Given the description of an element on the screen output the (x, y) to click on. 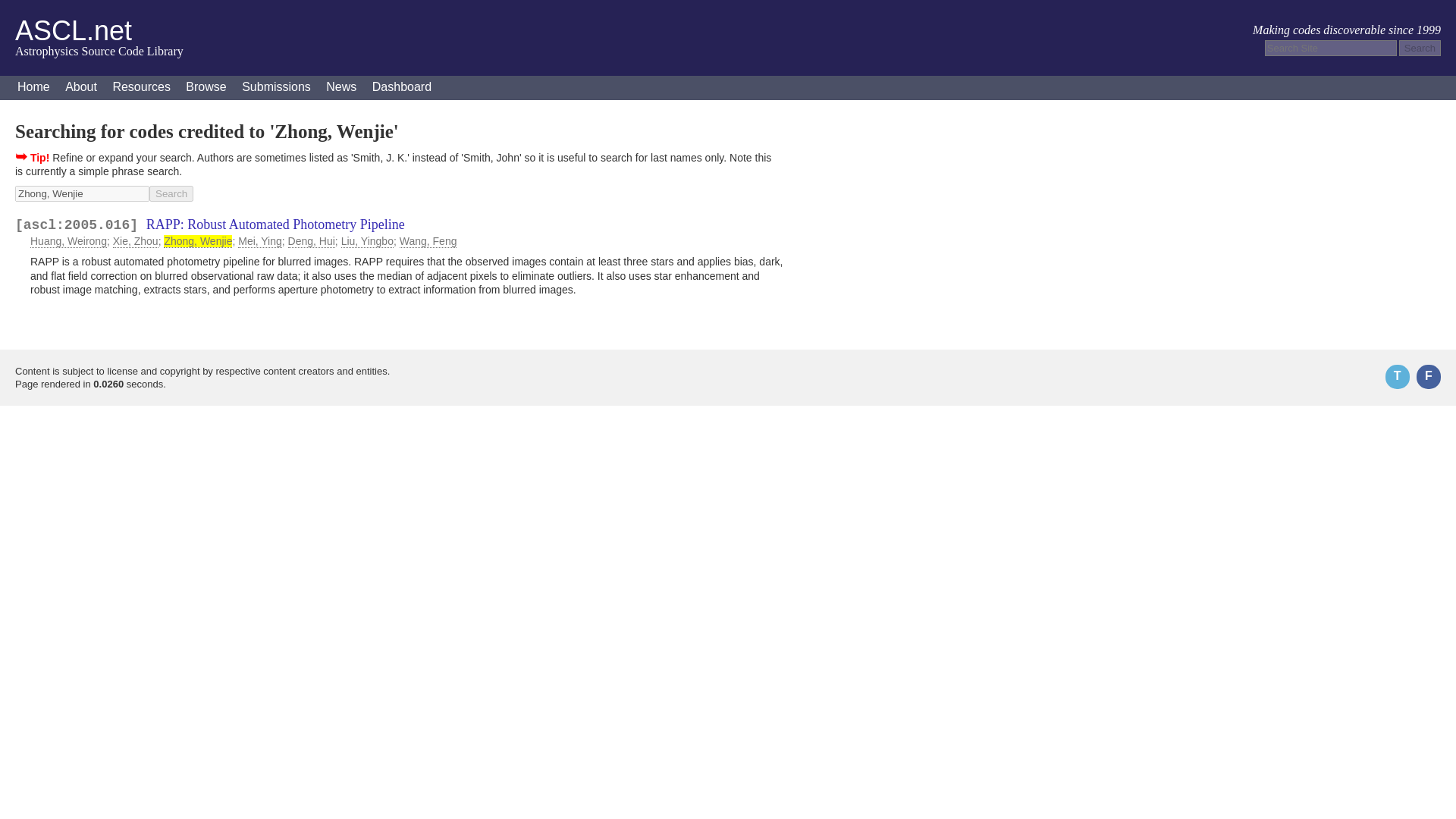
Zhong, Wenjie (197, 241)
Xie, Zhou (135, 241)
Zhong, Wenjie (81, 193)
News (341, 87)
Liu, Yingbo (366, 241)
Deng, Hui (311, 241)
F (1428, 376)
Resources (141, 87)
Search (1420, 48)
Wang, Feng (427, 241)
